Given the description of an element on the screen output the (x, y) to click on. 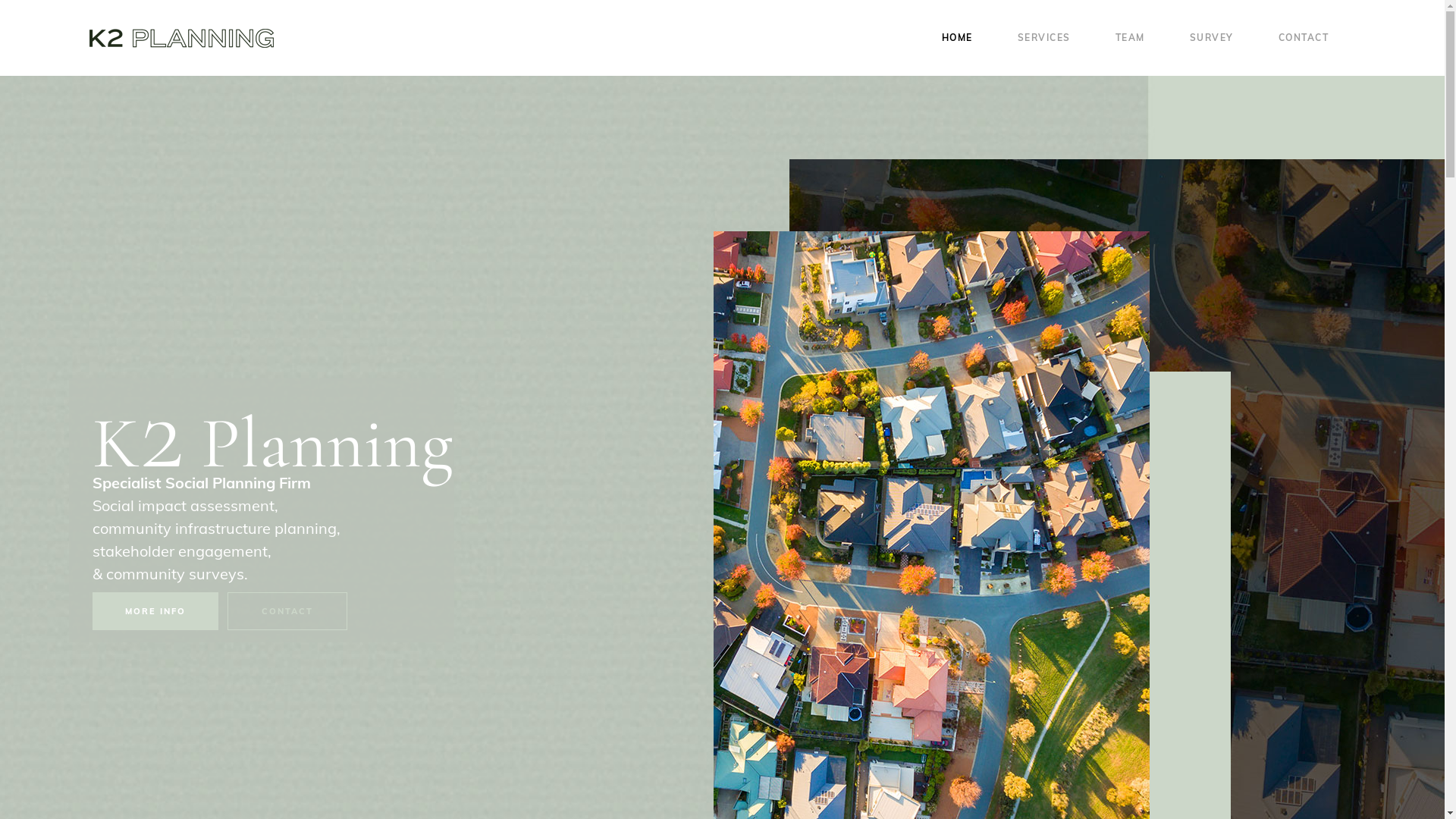
TEAM Element type: text (1140, 37)
SURVEY Element type: text (1222, 37)
CONTACT Element type: text (1314, 37)
HOME Element type: text (968, 37)
SERVICES Element type: text (1055, 37)
CONTACT Element type: text (287, 611)
MORE INFO Element type: text (155, 611)
